Given the description of an element on the screen output the (x, y) to click on. 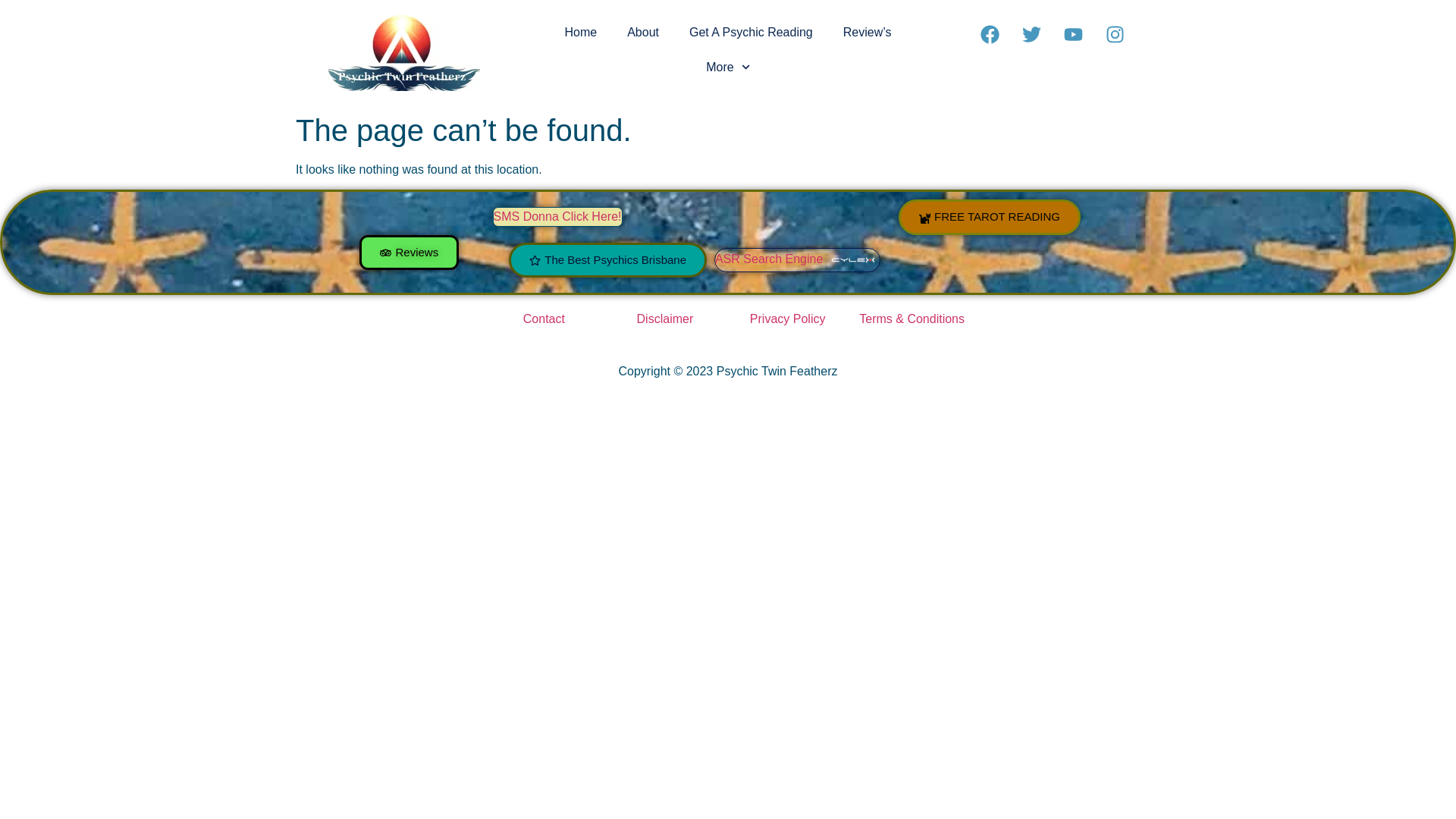
More (727, 67)
About (642, 32)
PSYCHIC Twin Featherz (853, 259)
FREE TAROT READING (989, 217)
Reviews (408, 253)
Home (579, 32)
Get A Psychic Reading (751, 32)
SMS Donna Click Here! (557, 215)
